Given the description of an element on the screen output the (x, y) to click on. 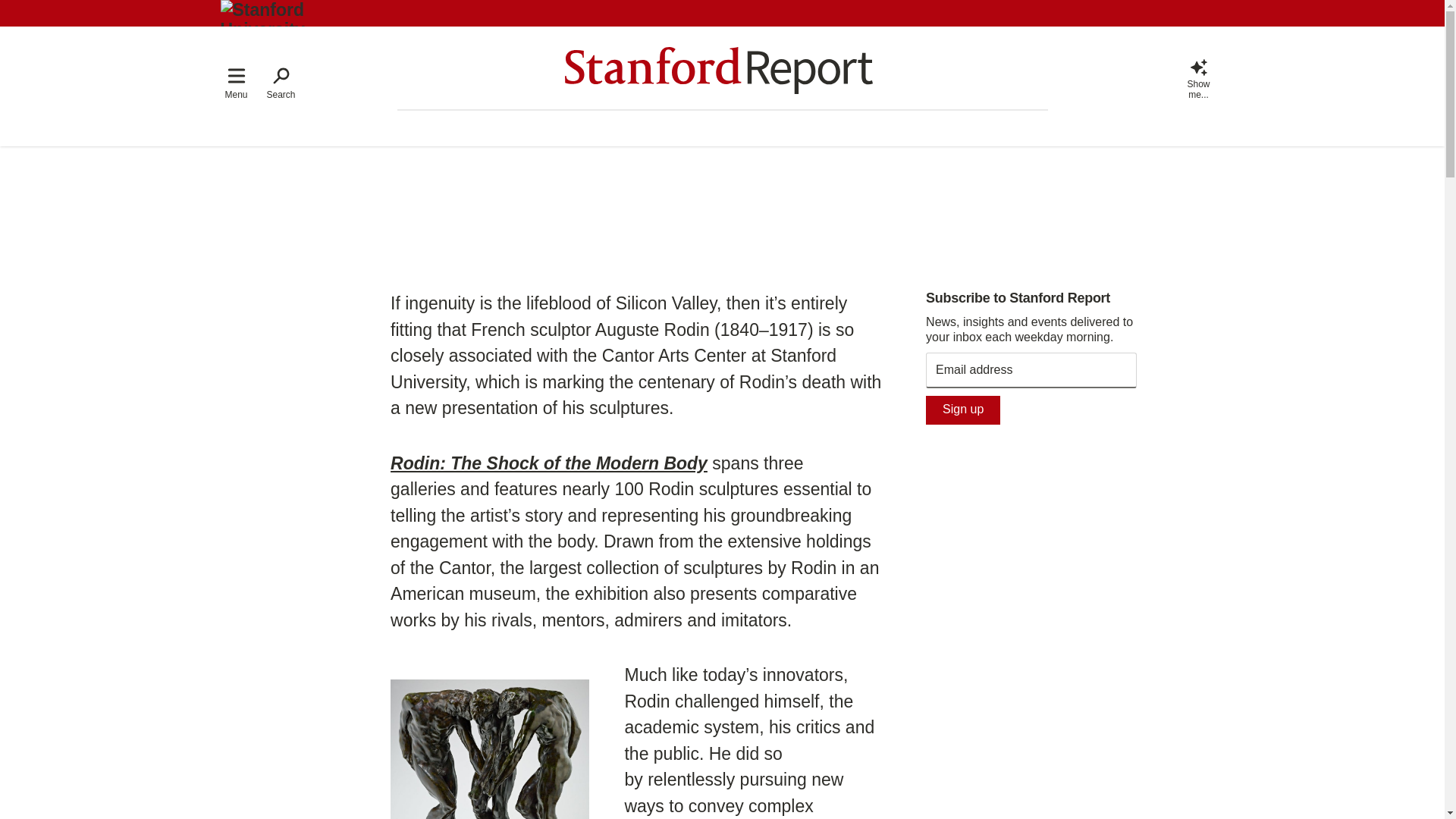
Rodin: The Shock of the Modern Body (548, 463)
Show me... (1198, 77)
Subscription Email (1031, 370)
